Given the description of an element on the screen output the (x, y) to click on. 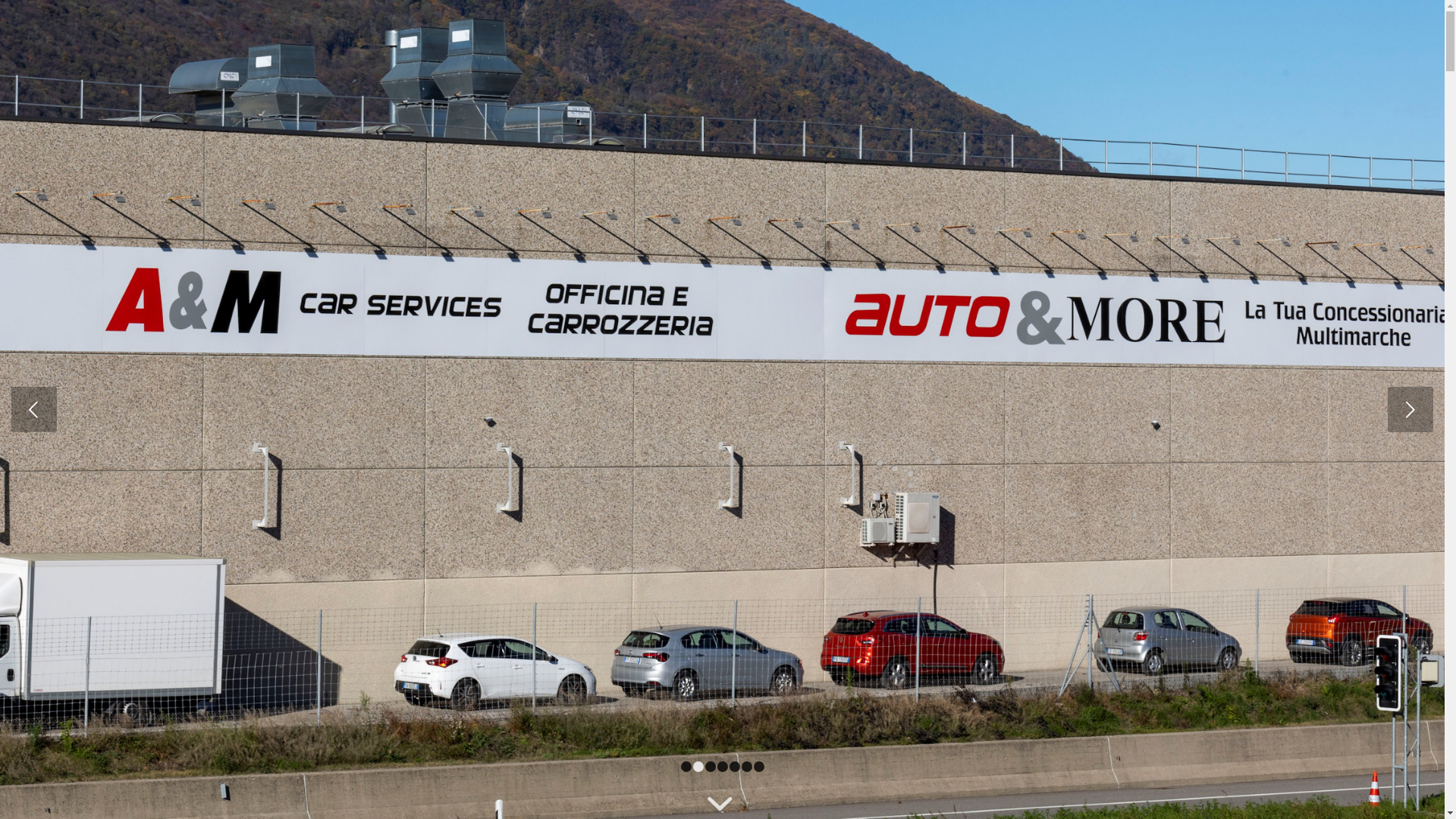
7 Element type: text (758, 766)
Posteriore Element type: text (1410, 409)
2 Element type: text (698, 766)
1 Element type: text (685, 766)
4 Element type: text (722, 766)
6 Element type: text (746, 766)
3 Element type: text (710, 766)
Anteriore Element type: text (33, 409)
5 Element type: text (734, 766)
